Given the description of an element on the screen output the (x, y) to click on. 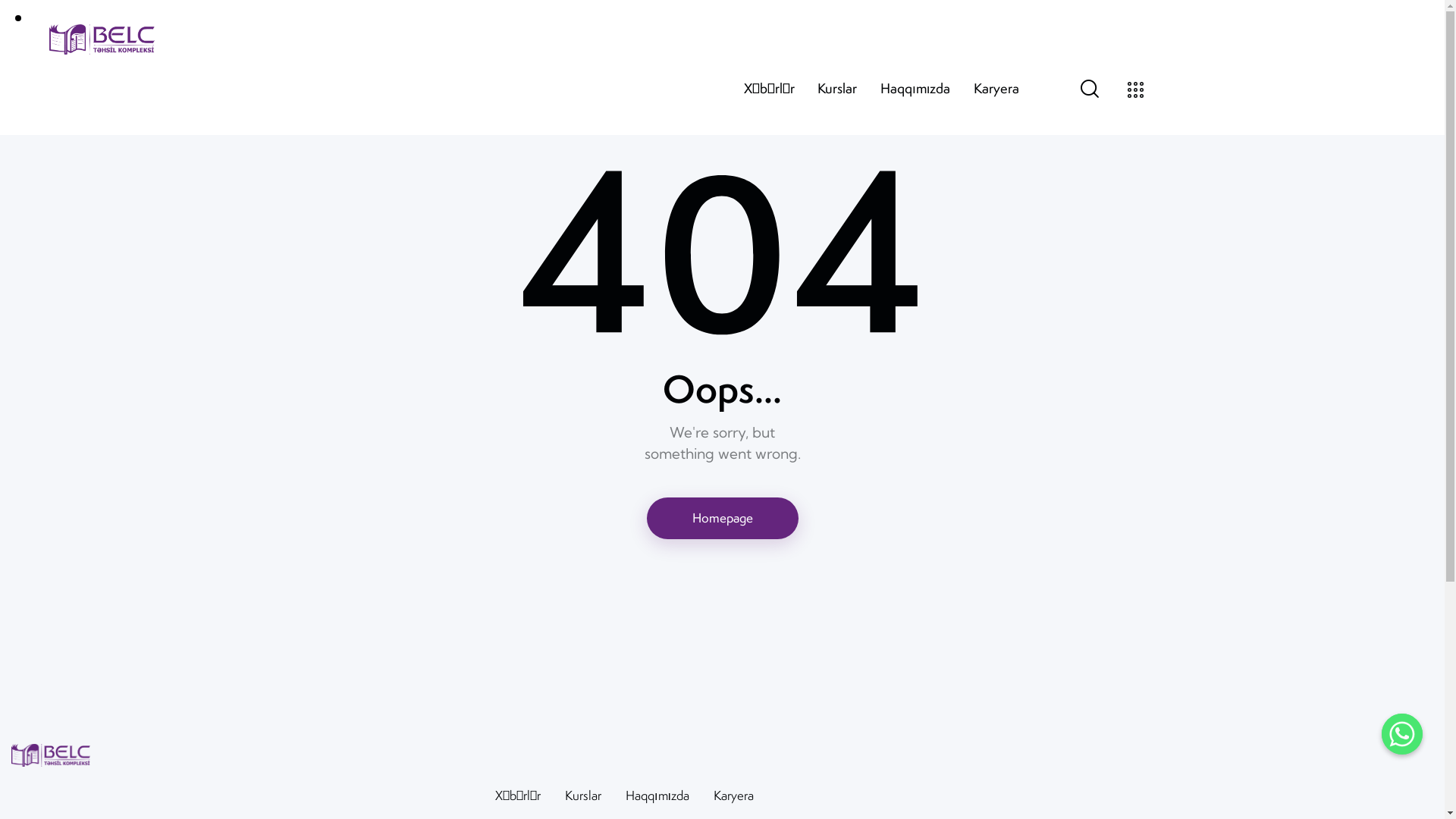
Karyera Element type: text (733, 795)
Homepage Element type: text (721, 518)
Kurslar Element type: text (837, 88)
Kurslar Element type: text (582, 795)
Karyera Element type: text (996, 88)
